Given the description of an element on the screen output the (x, y) to click on. 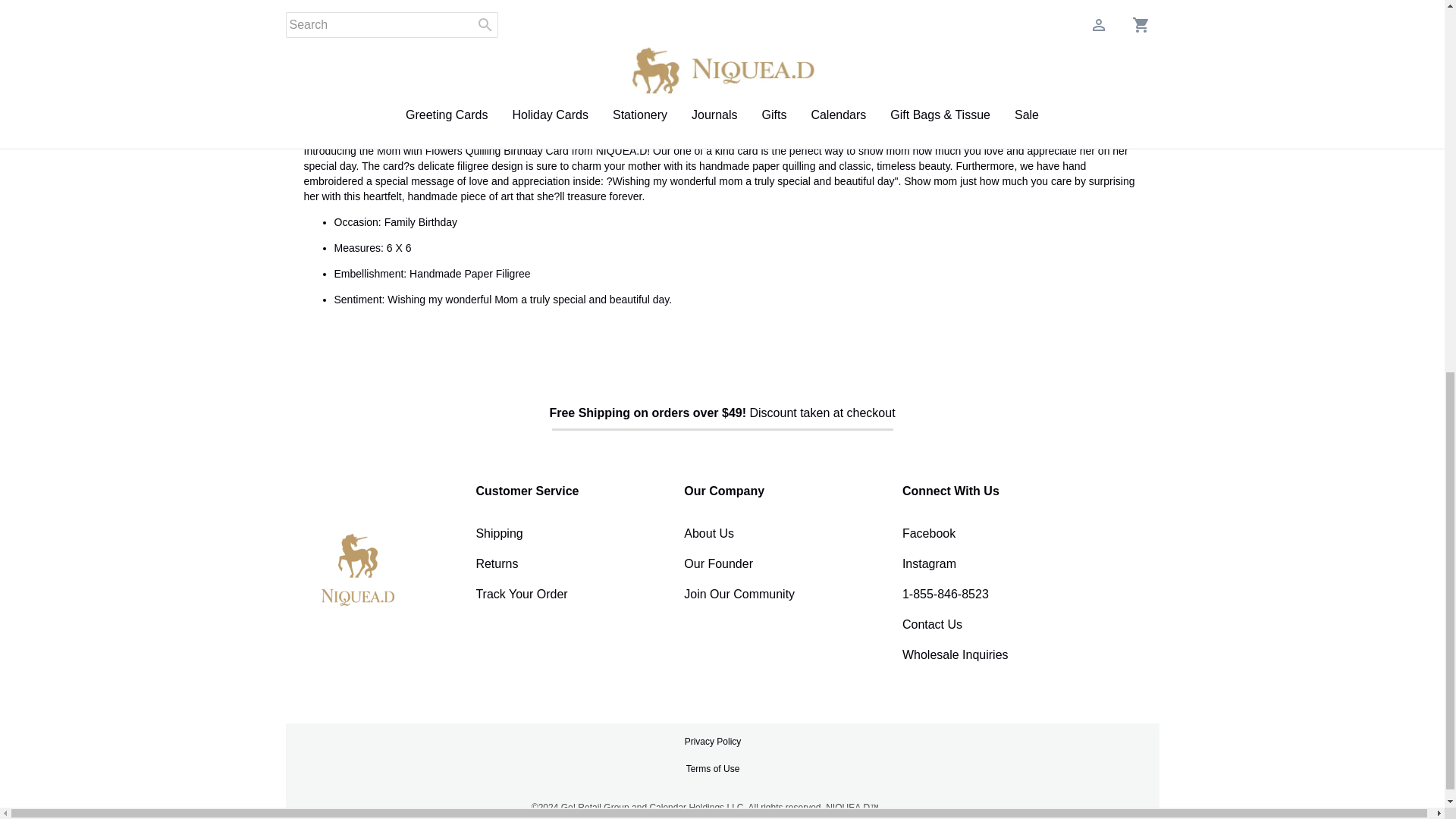
Reviews (721, 94)
Returns (491, 94)
Description (497, 563)
Shipping (323, 94)
Track Your Order (499, 533)
Characteristics (521, 594)
About Us (410, 94)
